Given the description of an element on the screen output the (x, y) to click on. 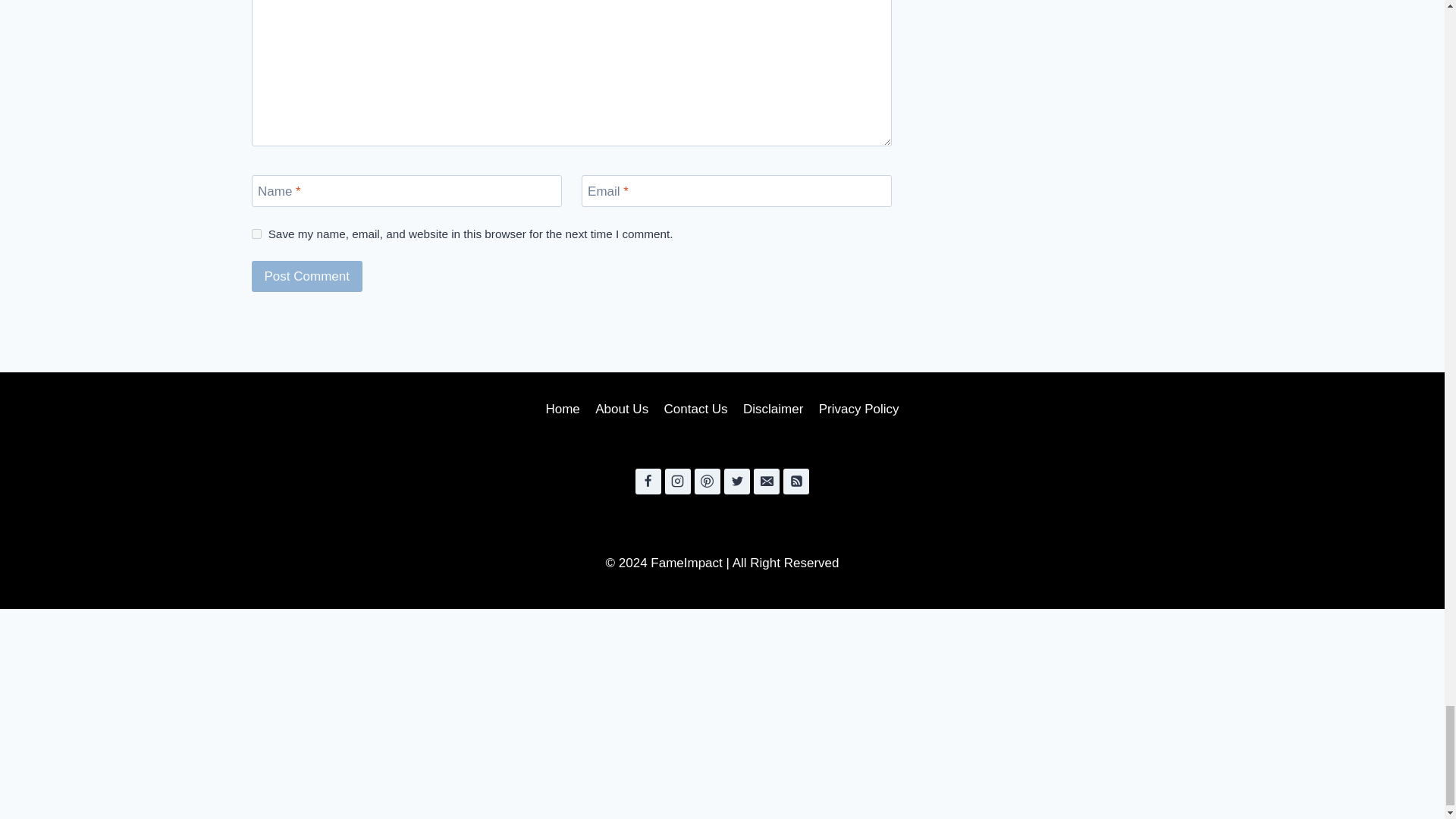
yes (256, 234)
Post Comment (306, 276)
